Given the description of an element on the screen output the (x, y) to click on. 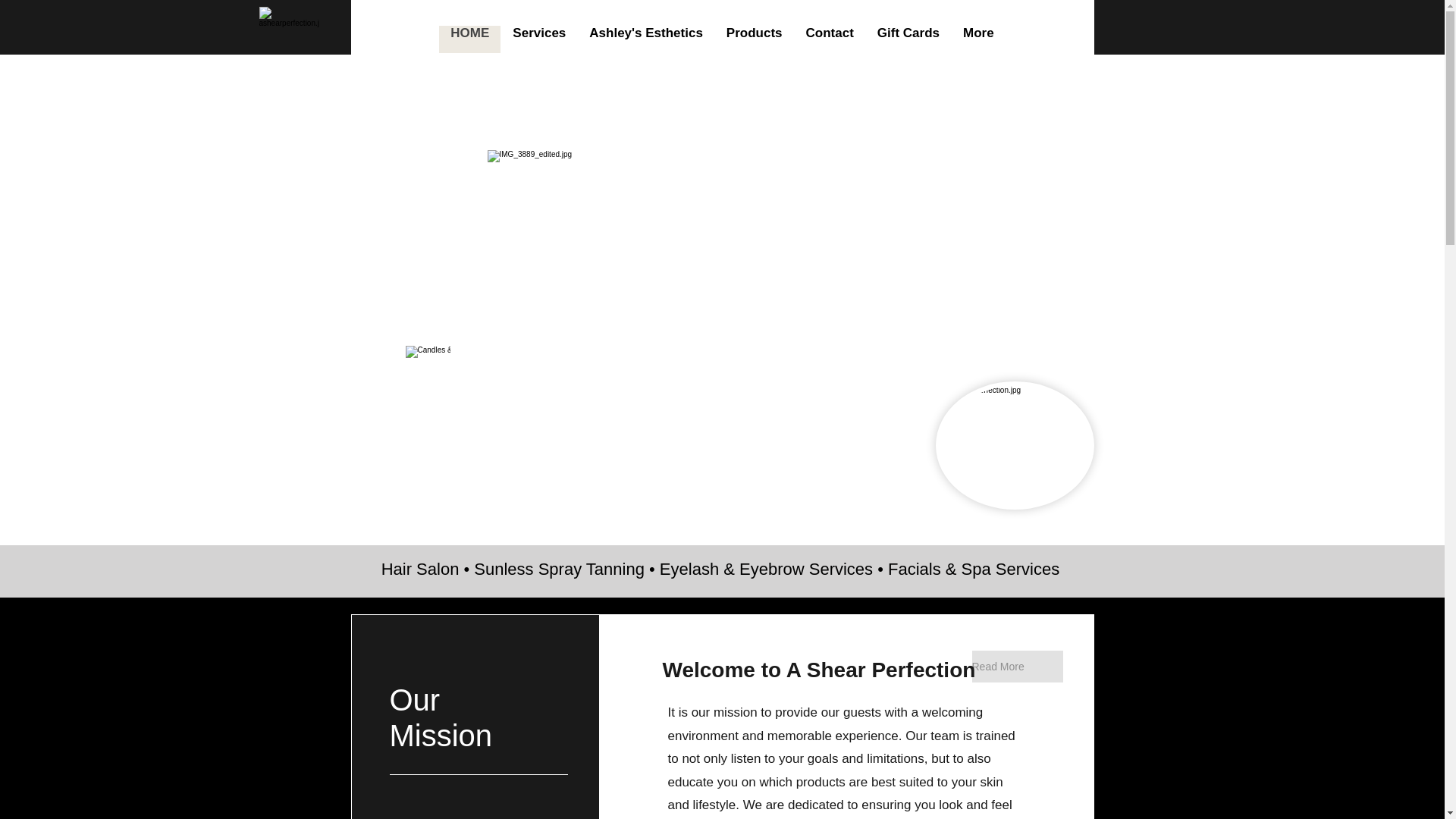
Ashley's Esthetics (645, 39)
HOME (469, 39)
Services (538, 39)
Products (753, 39)
Contact (828, 39)
Read More (1017, 666)
Gift Cards (907, 39)
